Given the description of an element on the screen output the (x, y) to click on. 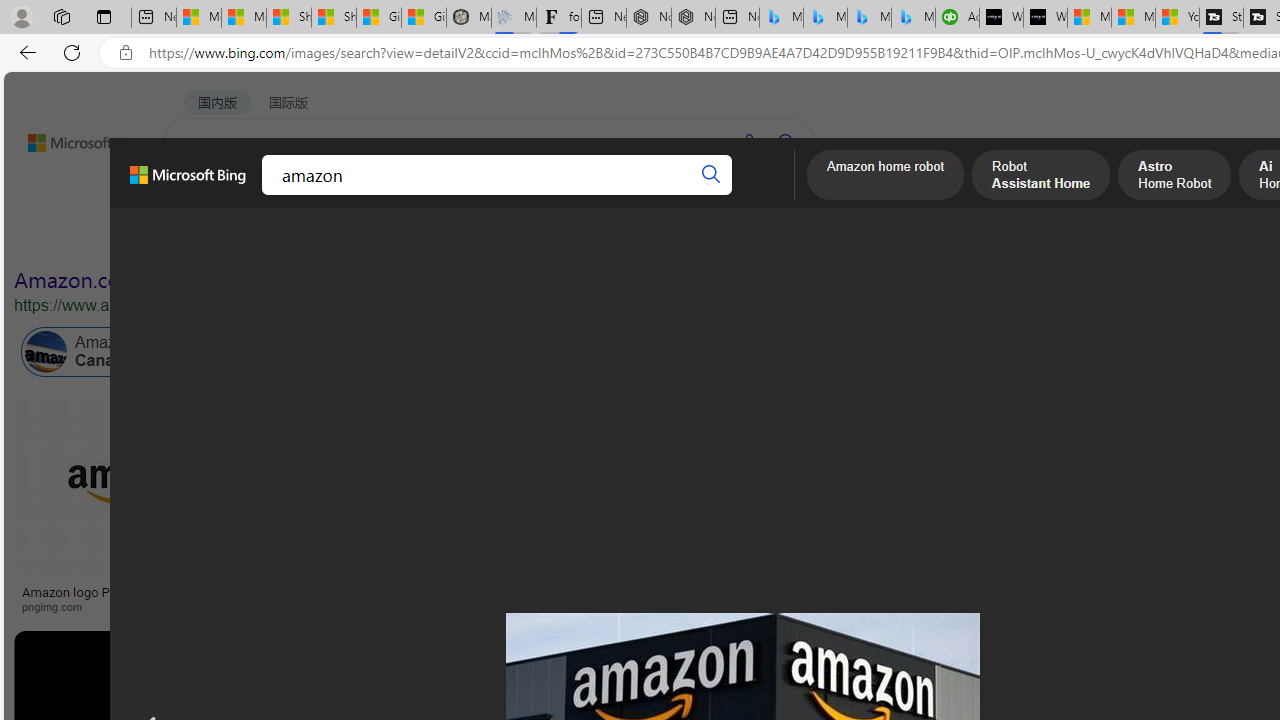
License (664, 237)
Microsoft Bing Travel - Shangri-La Hotel Bangkok (913, 17)
Dropdown Menu (779, 195)
Amazon Prime Online (303, 351)
ACADEMIC (548, 195)
Amazon Canada Online (114, 351)
Amazon Kids (464, 351)
Date (591, 237)
Amazon Kids (422, 351)
Amazon Labor Law Violation in California (993, 351)
Amazon.com. Spend less. Smile more. (195, 280)
IMAGES (274, 196)
